Given the description of an element on the screen output the (x, y) to click on. 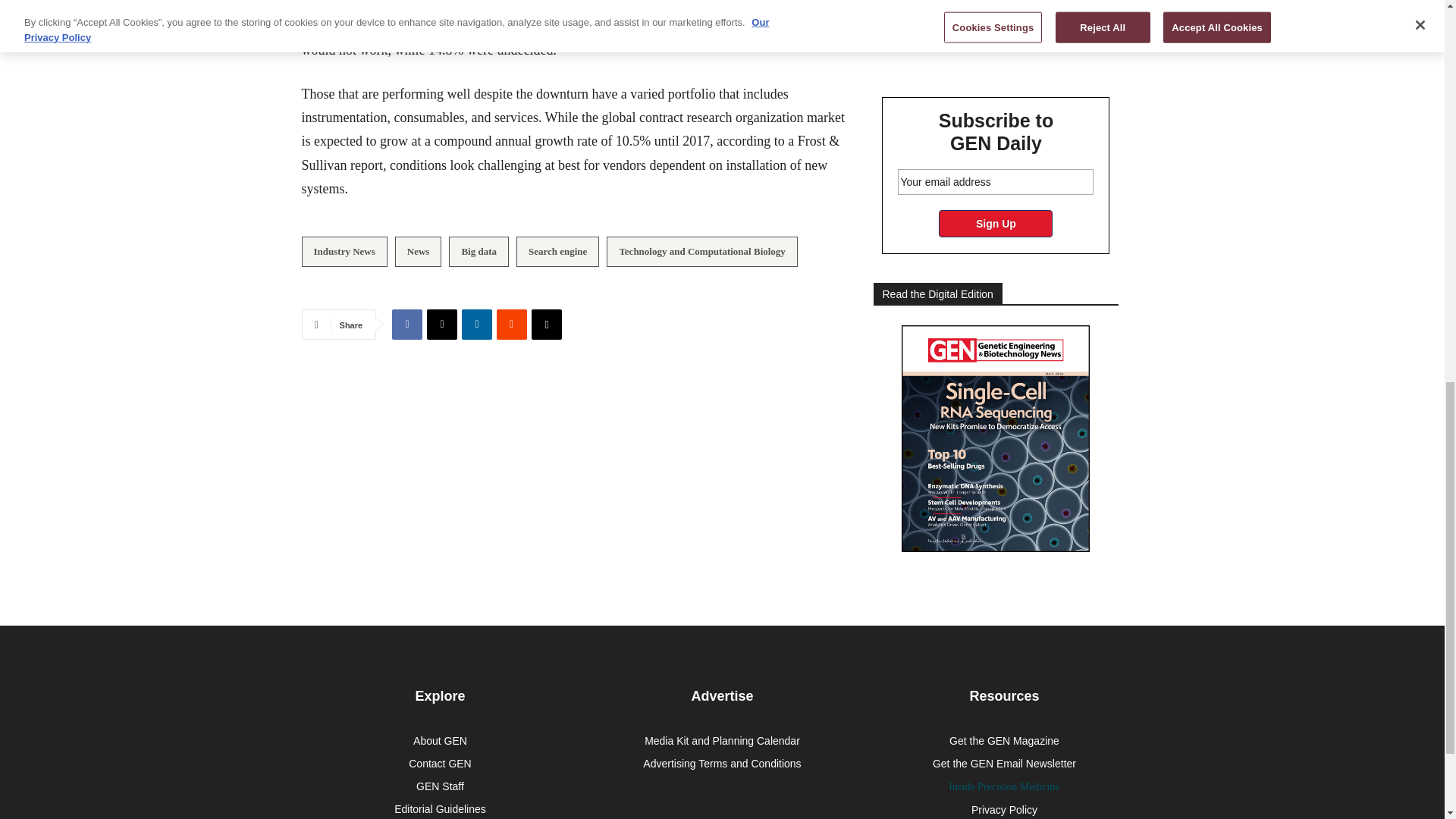
Sign Up (995, 223)
Facebook (406, 324)
